Given the description of an element on the screen output the (x, y) to click on. 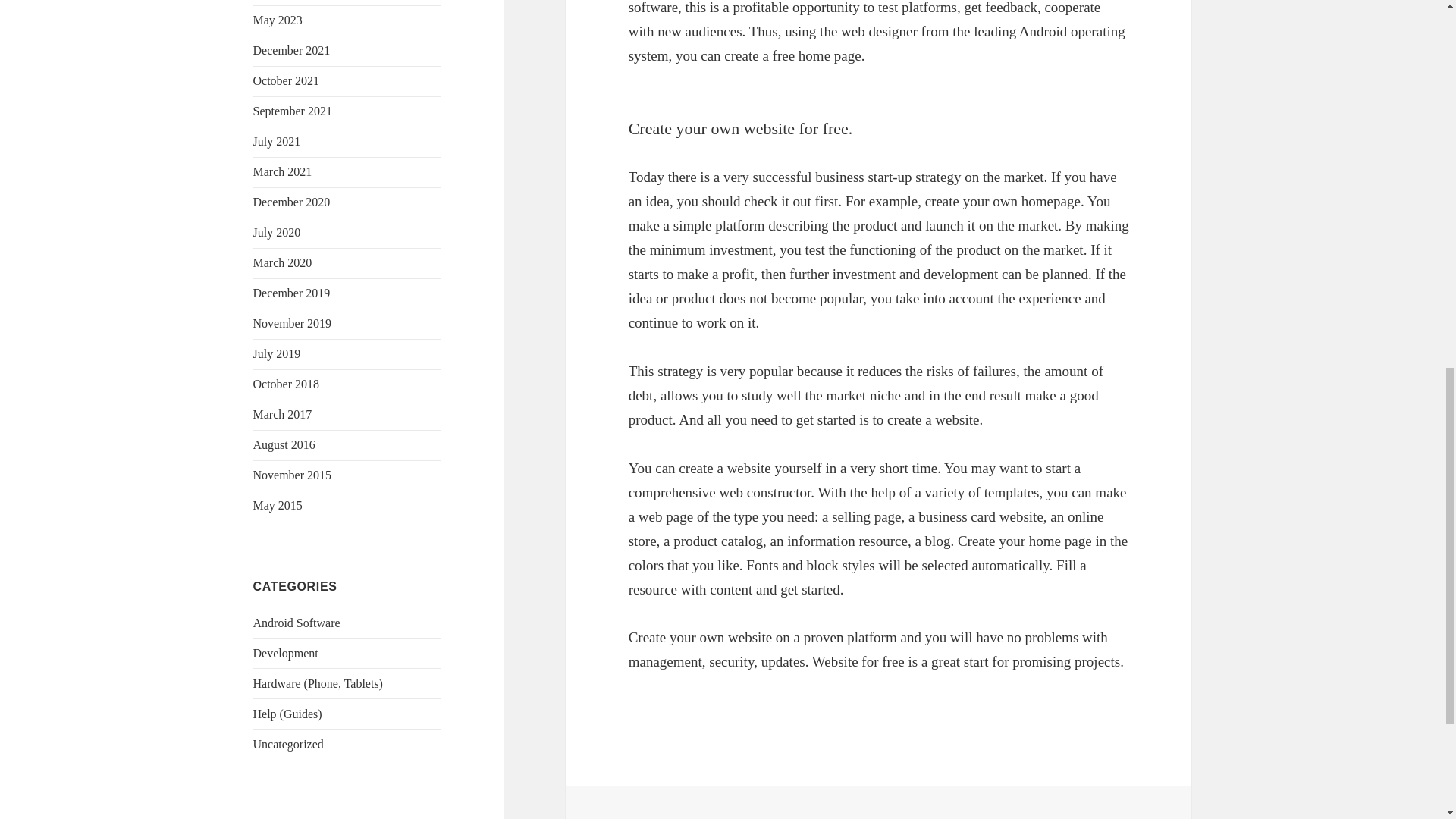
Android Software (296, 622)
August 2016 (284, 444)
September 2021 (292, 110)
October 2018 (286, 383)
March 2017 (283, 413)
May 2023 (277, 19)
October 2021 (286, 80)
December 2021 (291, 50)
December 2019 (291, 292)
July 2019 (277, 353)
March 2021 (283, 171)
March 2020 (283, 262)
July 2021 (277, 141)
November 2019 (292, 323)
May 2015 (277, 504)
